Given the description of an element on the screen output the (x, y) to click on. 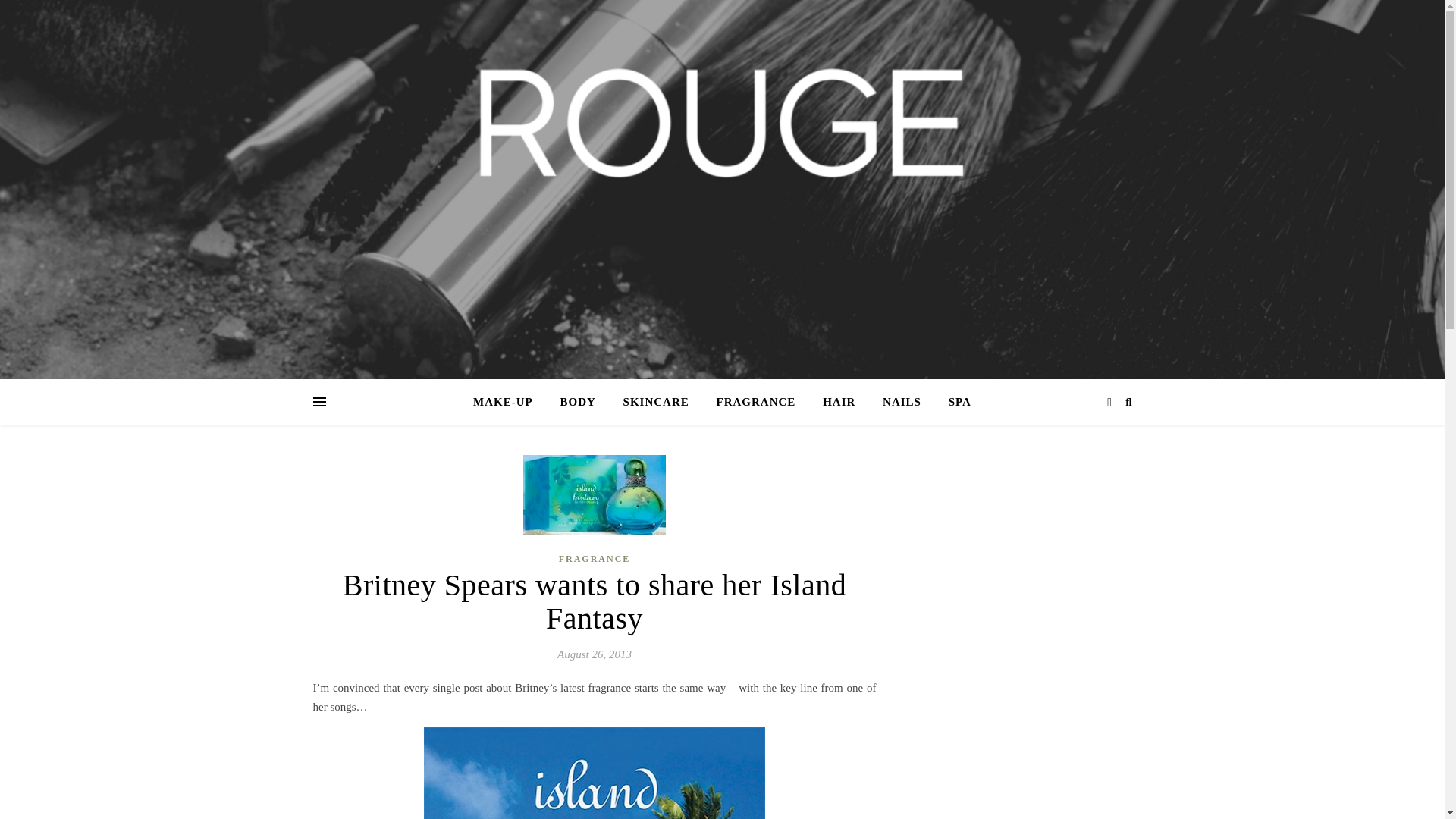
NAILS (901, 402)
BODY (577, 402)
FRAGRANCE (756, 402)
MAKE-UP (508, 402)
FRAGRANCE (594, 558)
SKINCARE (656, 402)
HAIR (838, 402)
